Given the description of an element on the screen output the (x, y) to click on. 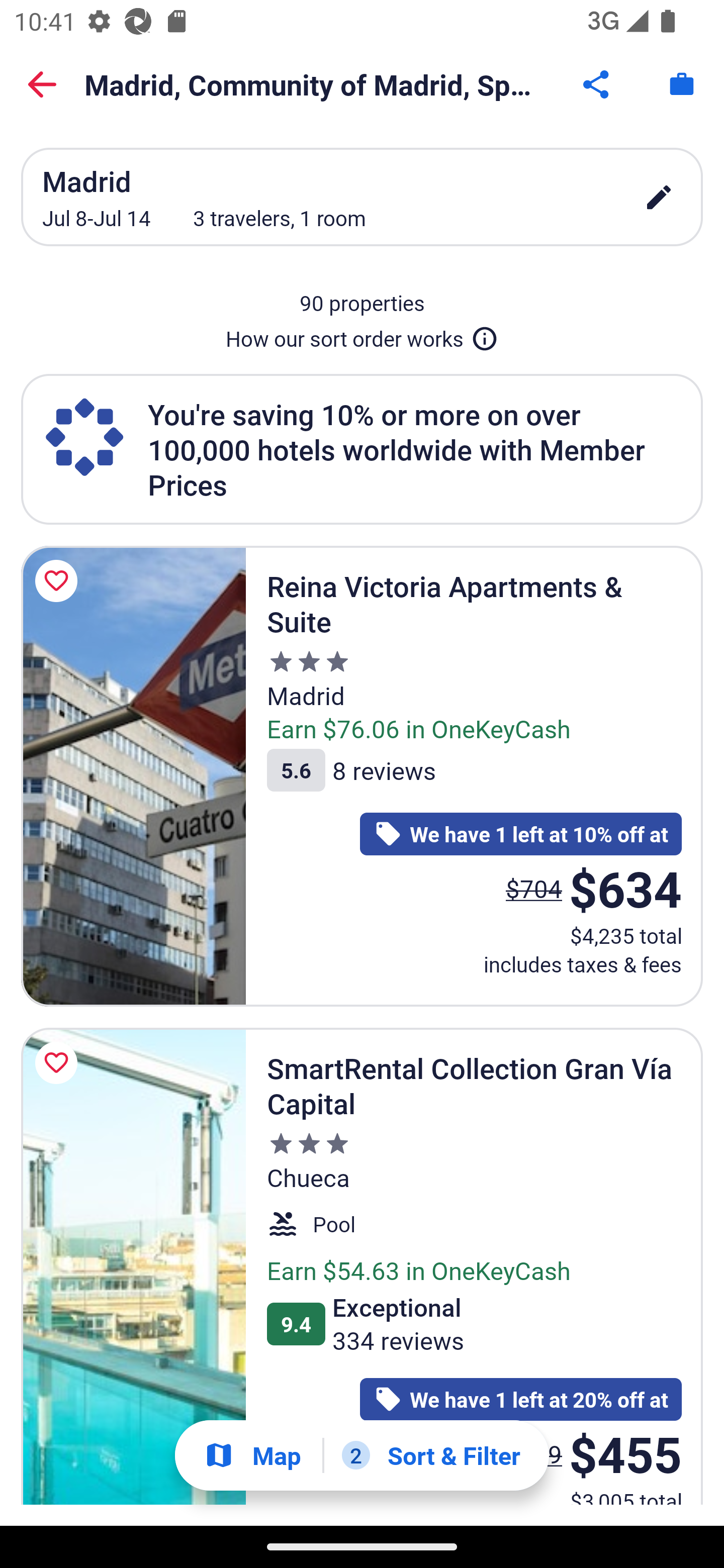
Back (42, 84)
Share Button (597, 84)
Trips. Button (681, 84)
Madrid Jul 8-Jul 14 3 travelers, 1 room edit (361, 196)
How our sort order works (361, 334)
Save Reina Victoria Apartments & Suite to a trip (59, 580)
Reina Victoria Apartments & Suite (133, 775)
$704 The price was $704 (533, 888)
SmartRental Collection Gran Vía Capital (133, 1266)
2 Sort & Filter 2 Filters applied. Filters Button (430, 1455)
Show map Map Show map Button (252, 1455)
